Given the description of an element on the screen output the (x, y) to click on. 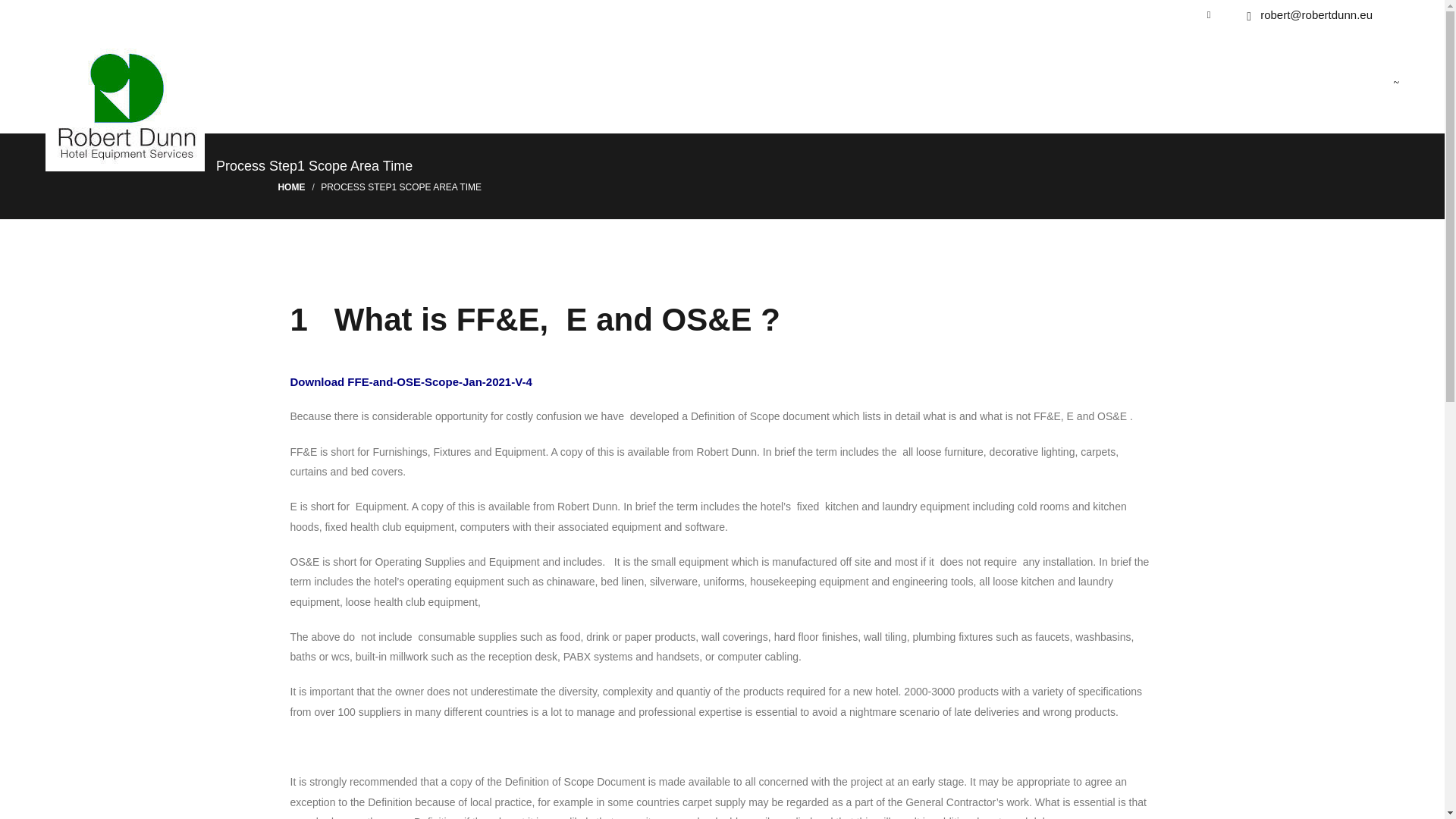
HOME (291, 186)
Policy documents (646, 766)
Contact (566, 766)
Download FFE-and-OSE-Scope-Jan-2021-V-4 (410, 381)
Terms and Conditions-Robert Dunn (803, 766)
linkedin (721, 728)
